Given the description of an element on the screen output the (x, y) to click on. 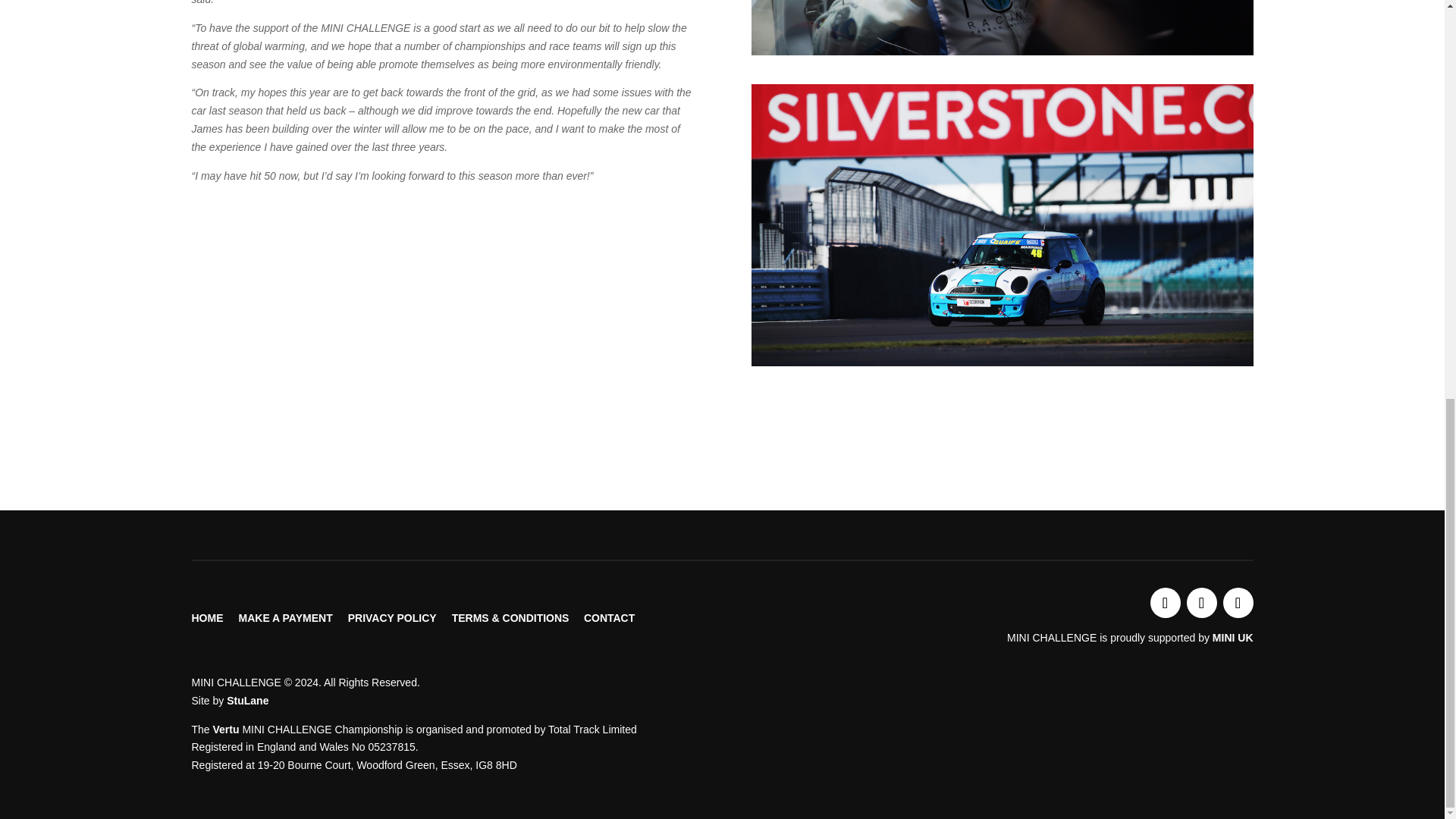
46-AASF5851 (1002, 27)
Follow on Instagram (1237, 603)
Follow on Facebook (1200, 603)
Follow on X (1164, 603)
Motorsport websites (247, 700)
